Given the description of an element on the screen output the (x, y) to click on. 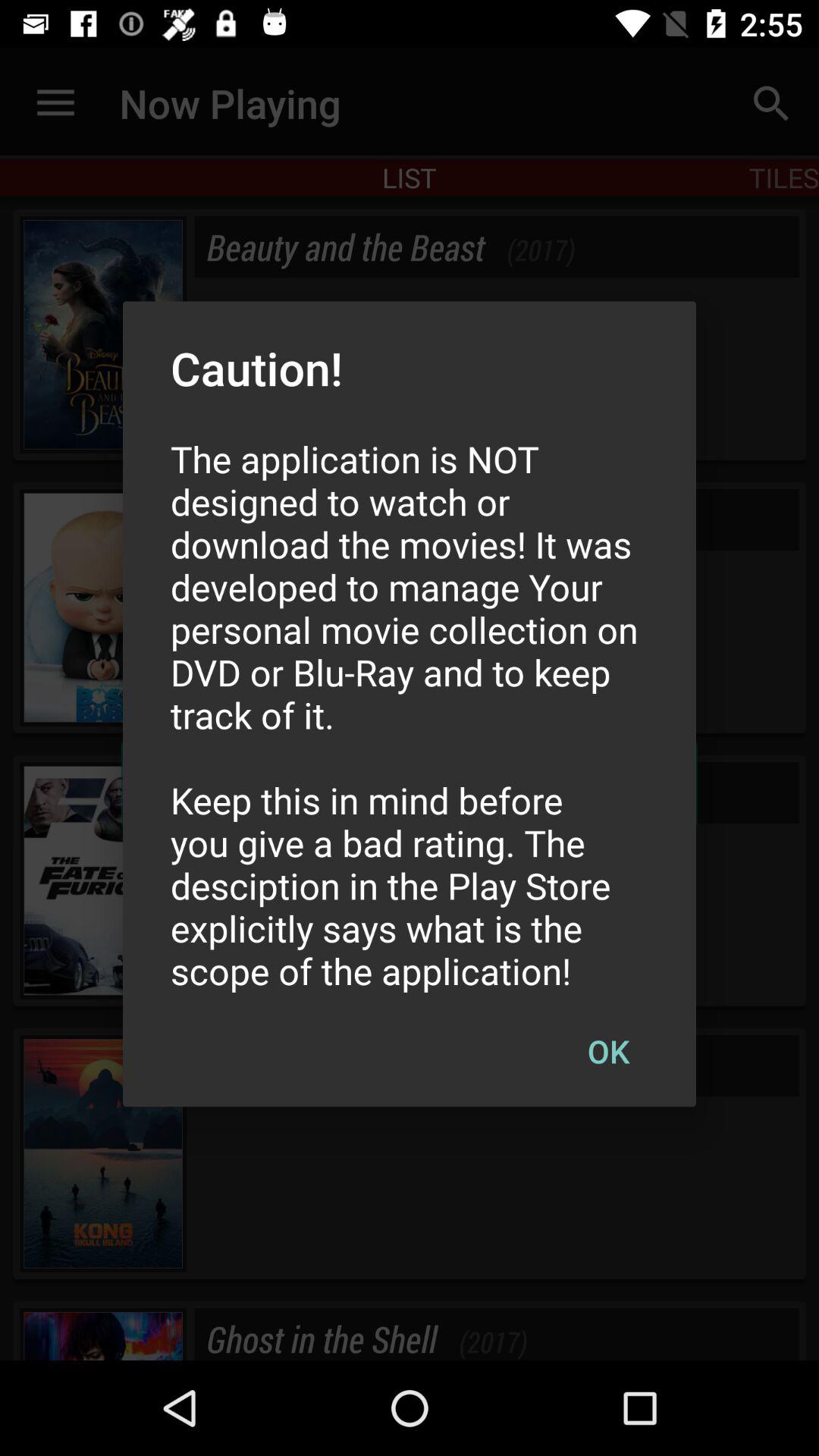
scroll to ok item (608, 1050)
